Given the description of an element on the screen output the (x, y) to click on. 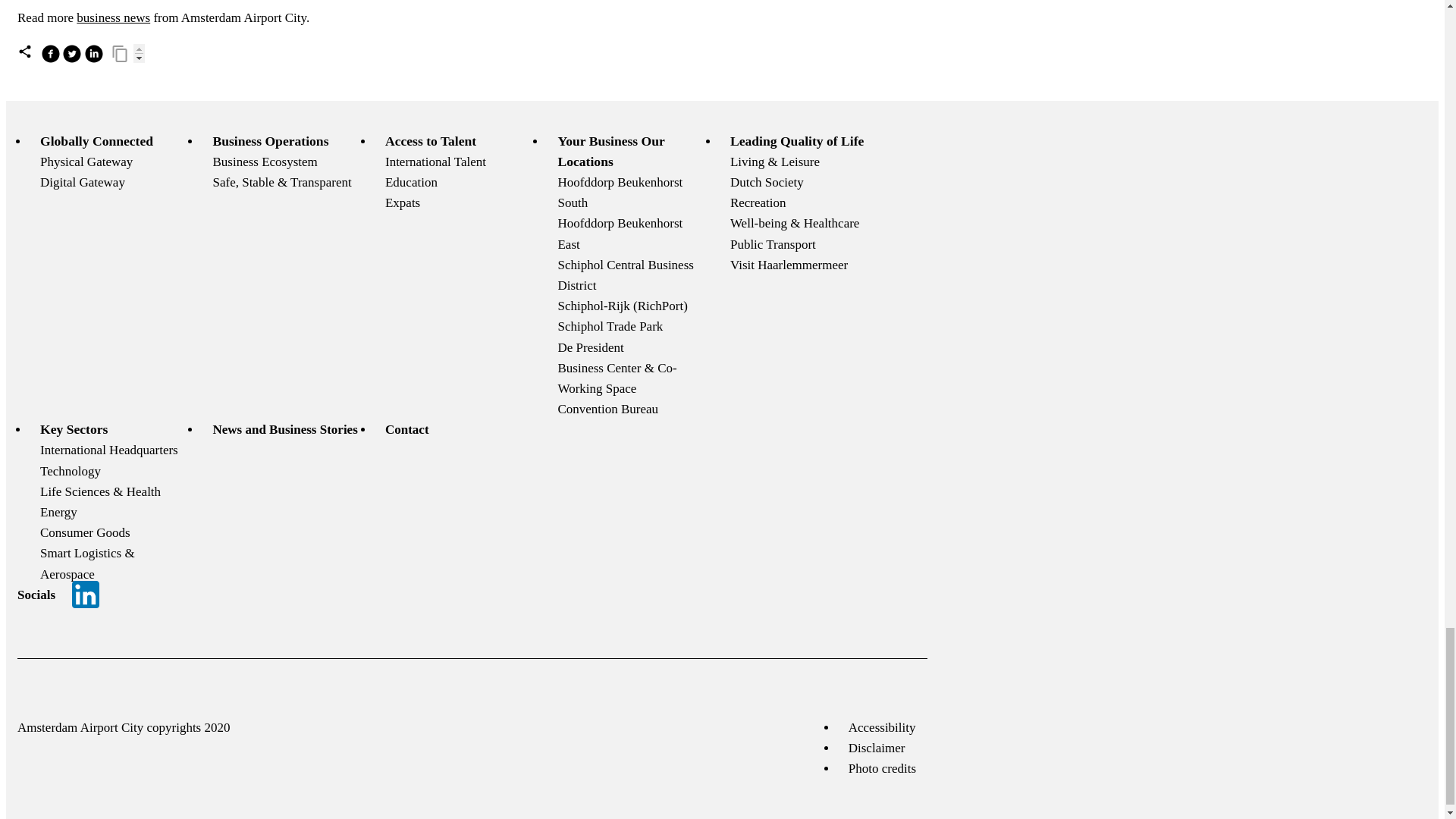
Copy site URL (119, 54)
Expats community Haarlemmermeer (402, 202)
Convention Bureau Event Park Amsterdam (607, 409)
